Given the description of an element on the screen output the (x, y) to click on. 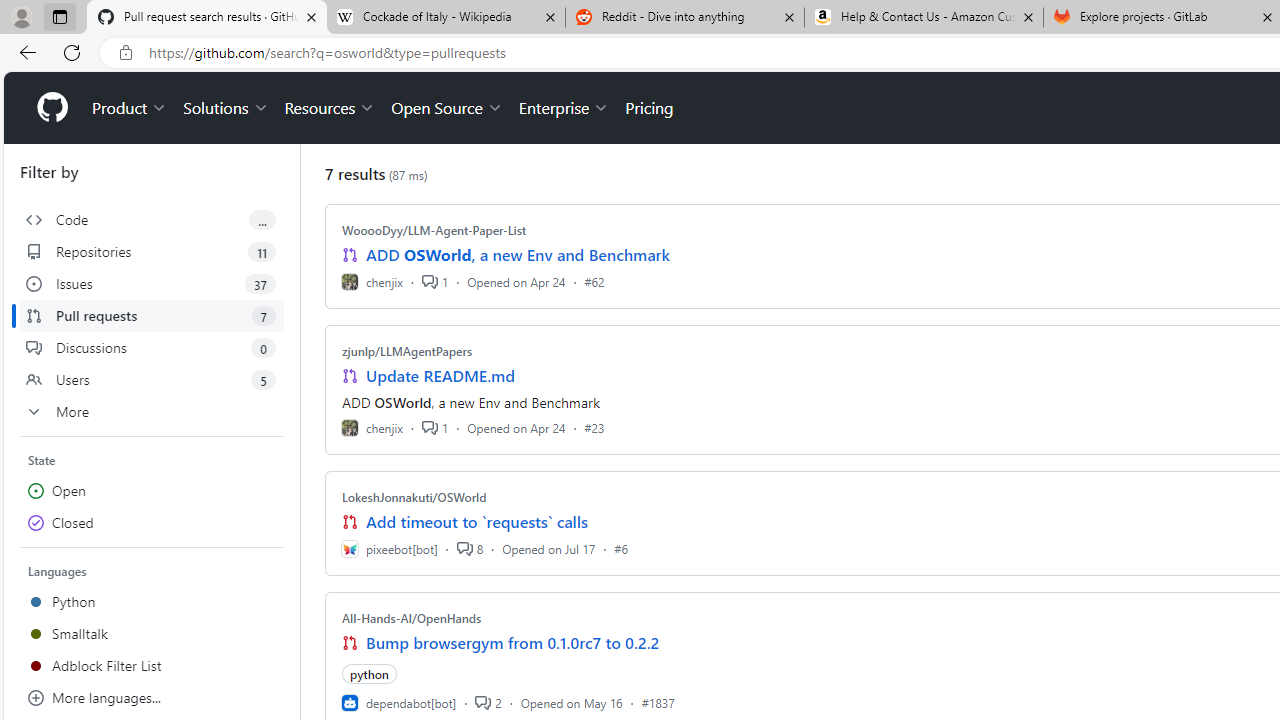
Product (130, 107)
zjunlp/LLMAgentPapers (407, 351)
pixeebot[bot] (389, 548)
chenjix (372, 427)
#6 (621, 548)
Enterprise (563, 107)
#6 (621, 548)
